Given the description of an element on the screen output the (x, y) to click on. 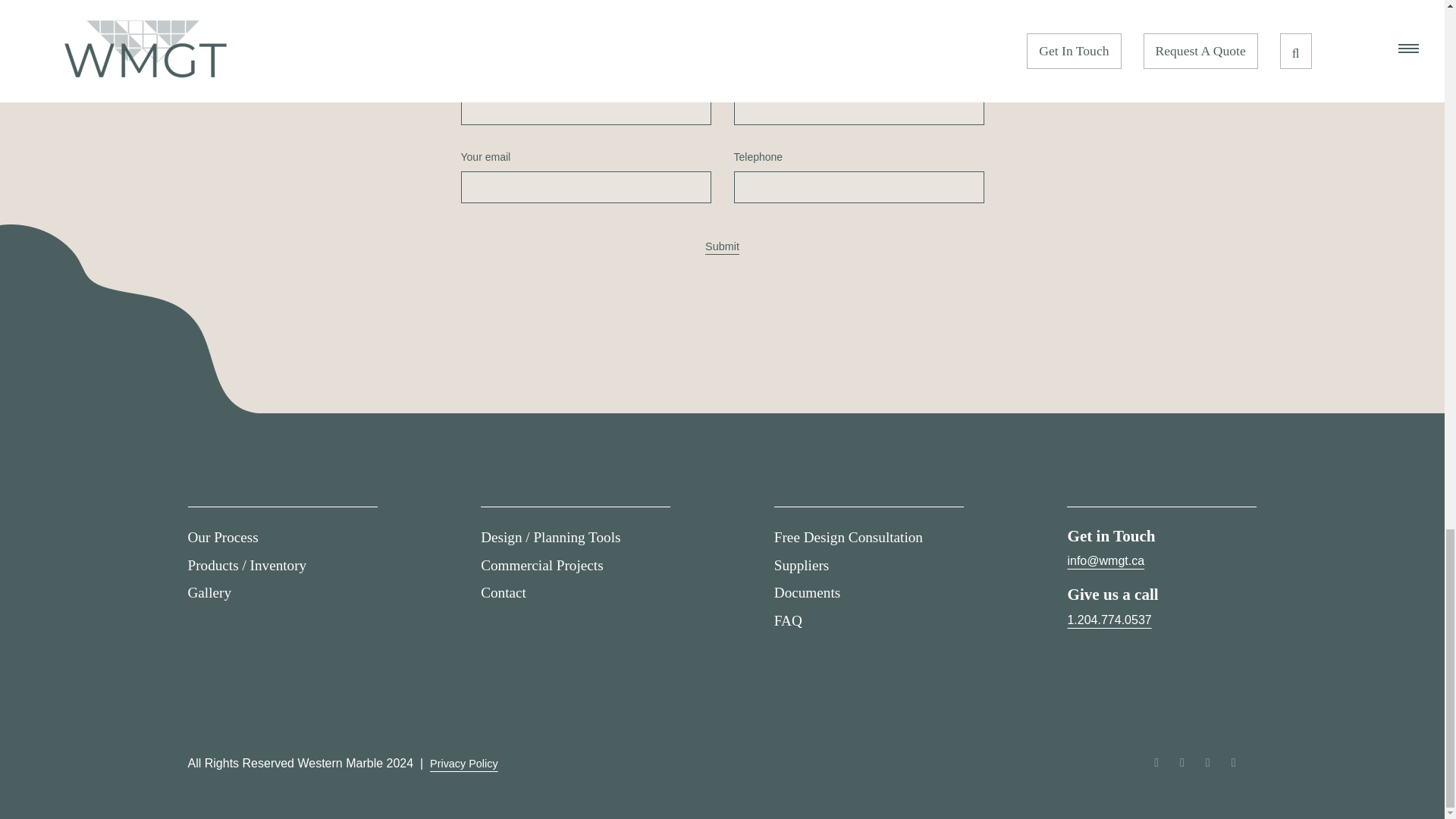
Our Process (223, 537)
Submit (722, 247)
Submit (722, 247)
Gallery (209, 592)
